Given the description of an element on the screen output the (x, y) to click on. 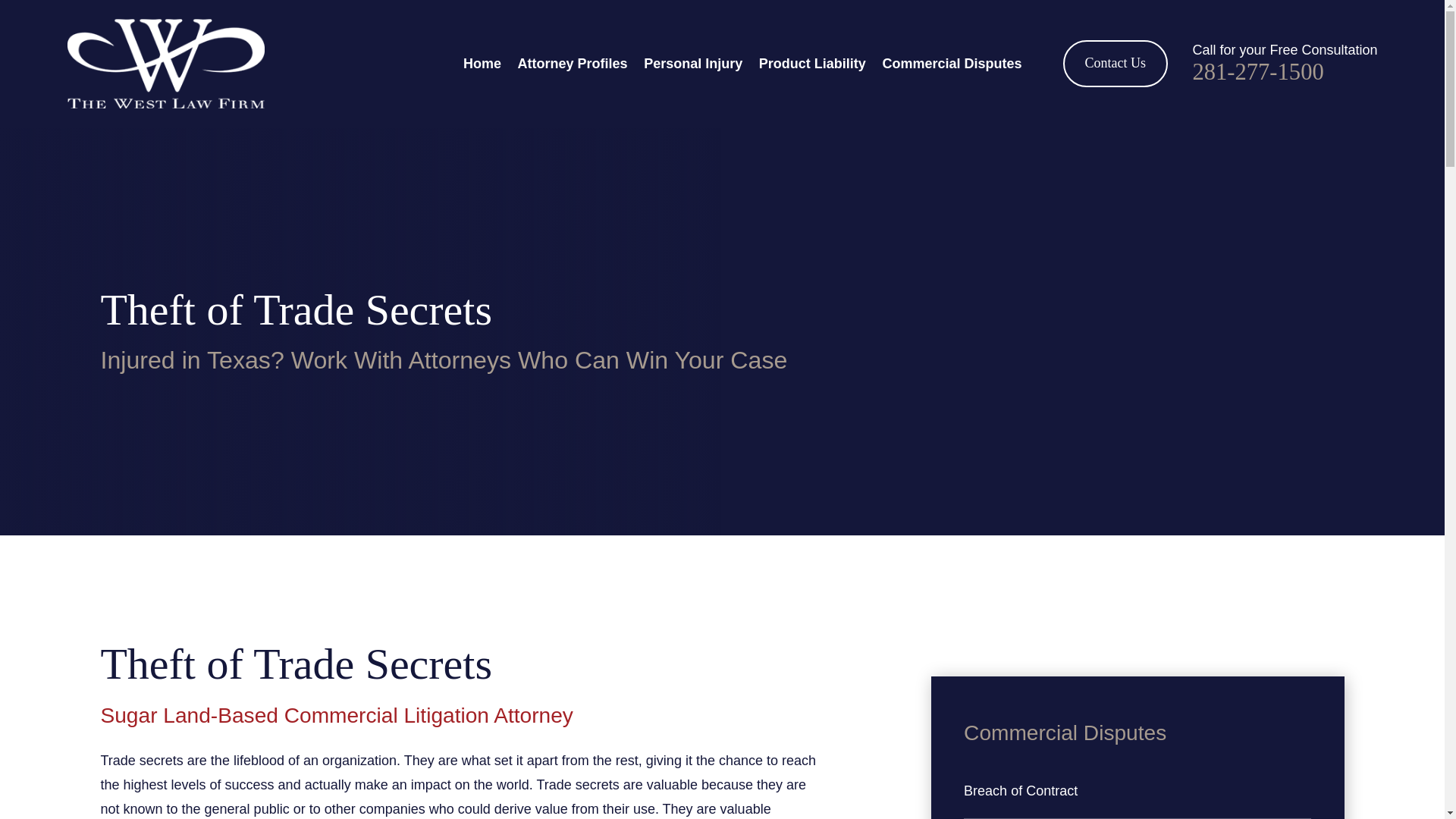
Personal Injury (692, 63)
Home (164, 63)
Commercial Disputes (952, 63)
Attorney Profiles (572, 63)
Product Liability (812, 63)
